Given the description of an element on the screen output the (x, y) to click on. 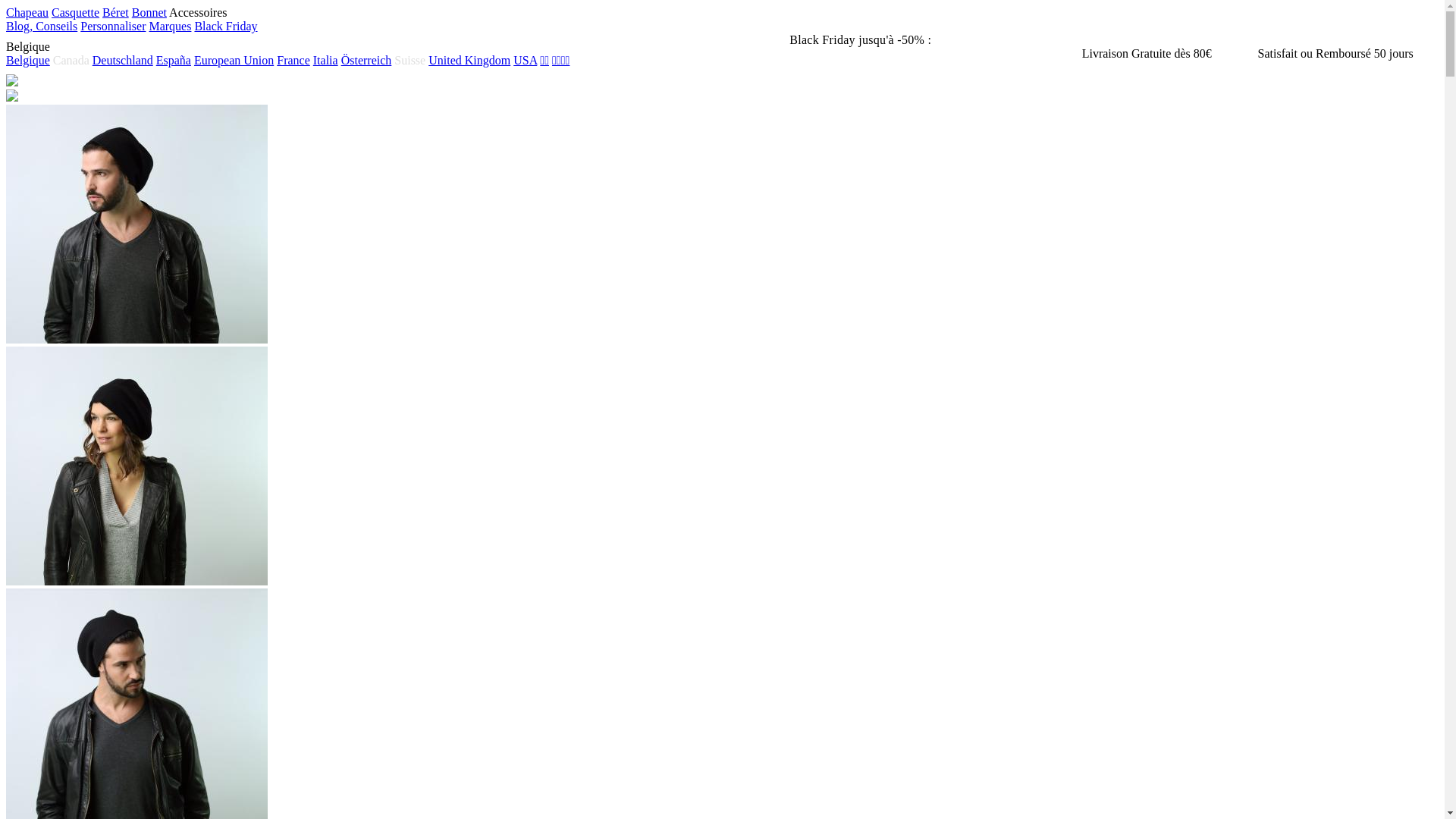
Suisse Element type: text (411, 59)
Italia Element type: text (325, 59)
Canada Element type: text (72, 59)
Personnaliser Element type: text (112, 25)
Casquette Element type: text (75, 12)
Belgique Element type: text (28, 59)
Deutschland Element type: text (122, 59)
Marques Element type: text (169, 25)
USA Element type: text (524, 59)
Accessoires Element type: text (197, 12)
Bonnet Element type: text (148, 12)
European Union Element type: text (233, 59)
Blog, Conseils Element type: text (41, 25)
Black Friday Element type: text (225, 25)
United Kingdom Element type: text (469, 59)
Belgique Element type: text (28, 46)
Canada Element type: text (71, 59)
Chapeau Element type: text (27, 12)
Suisse Element type: text (409, 59)
France Element type: text (293, 59)
